Given the description of an element on the screen output the (x, y) to click on. 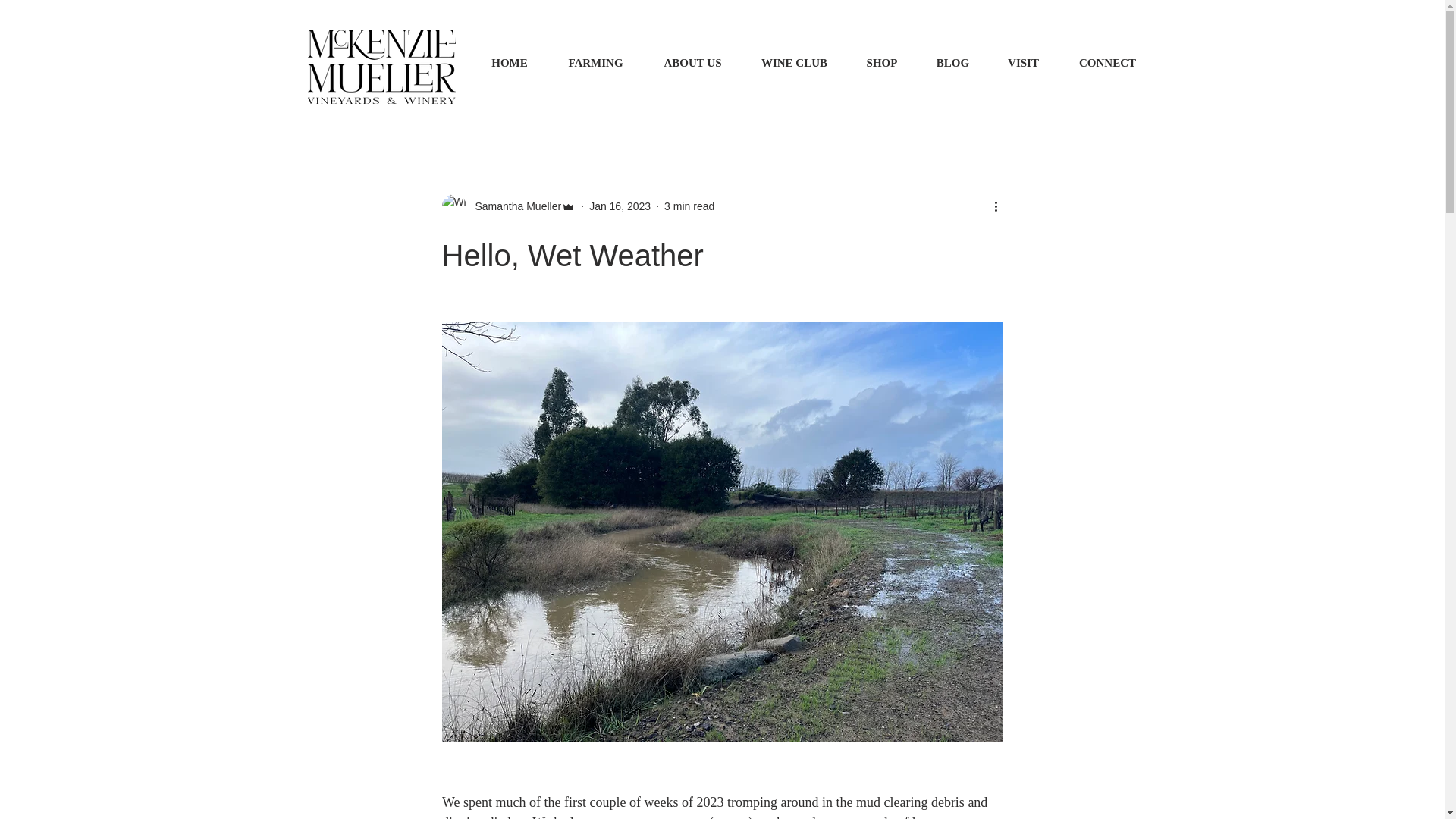
Samantha Mueller (512, 206)
Jan 16, 2023 (619, 205)
3 min read (688, 205)
FARMING (595, 63)
WINE CLUB (793, 63)
SHOP (881, 63)
ABOUT US (692, 63)
BLOG (952, 63)
HOME (509, 63)
VISIT (1023, 63)
CONNECT (1107, 63)
Wix Chat (140, 794)
